Given the description of an element on the screen output the (x, y) to click on. 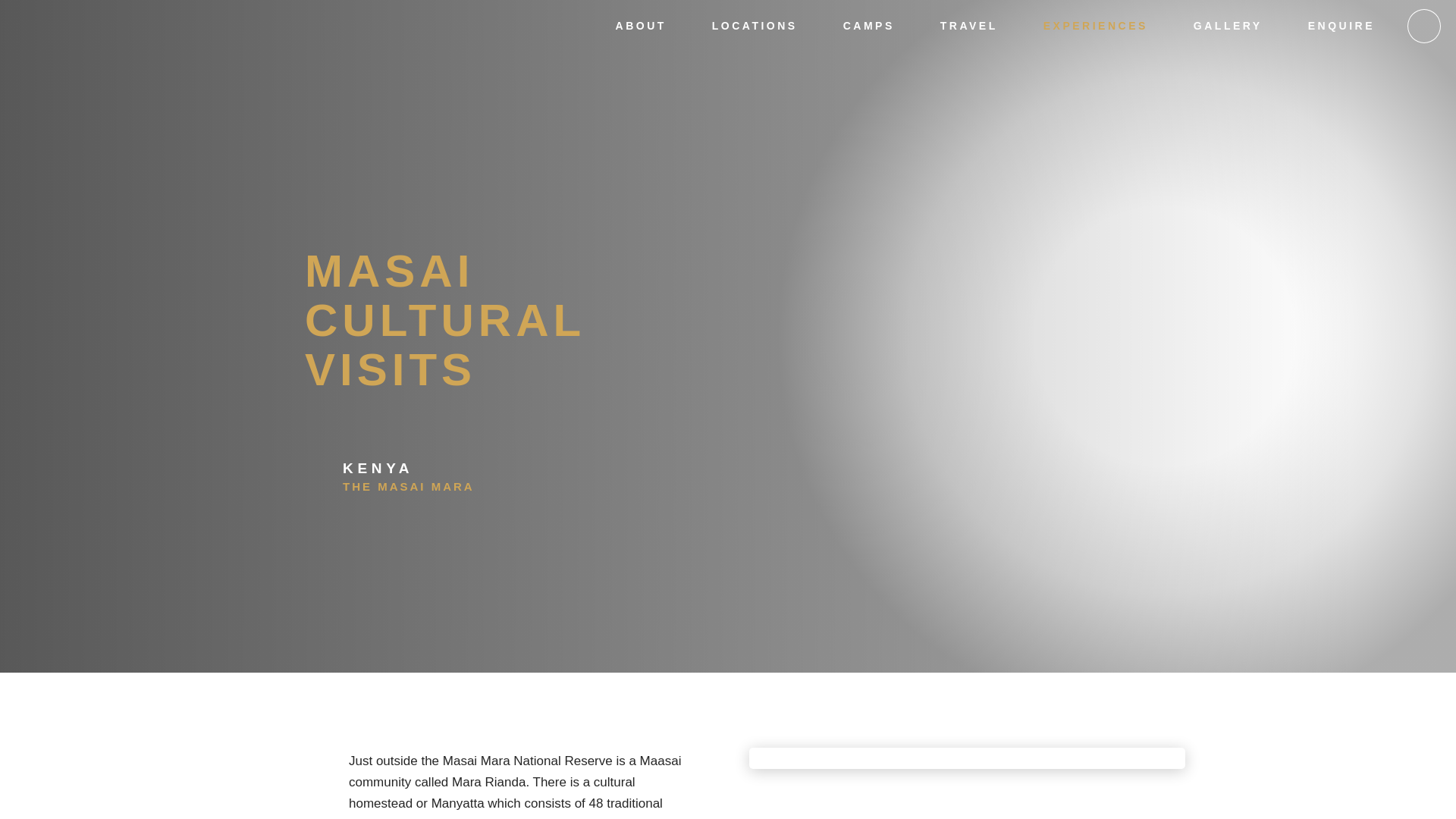
CAMPS (869, 28)
ABOUT (640, 28)
LOCATIONS (754, 28)
